Given the description of an element on the screen output the (x, y) to click on. 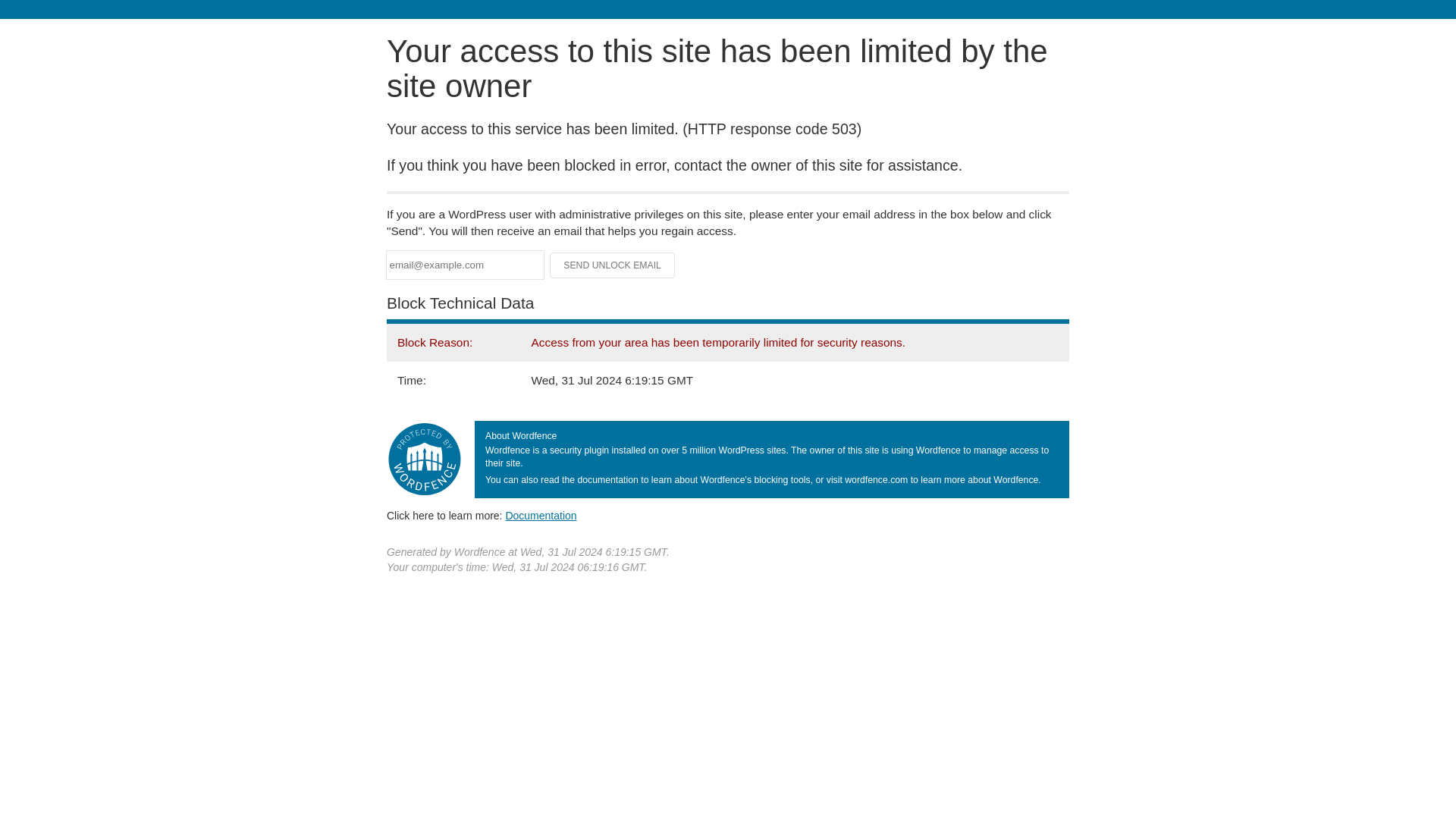
Send Unlock Email (612, 265)
Send Unlock Email (612, 265)
Documentation (540, 515)
